Given the description of an element on the screen output the (x, y) to click on. 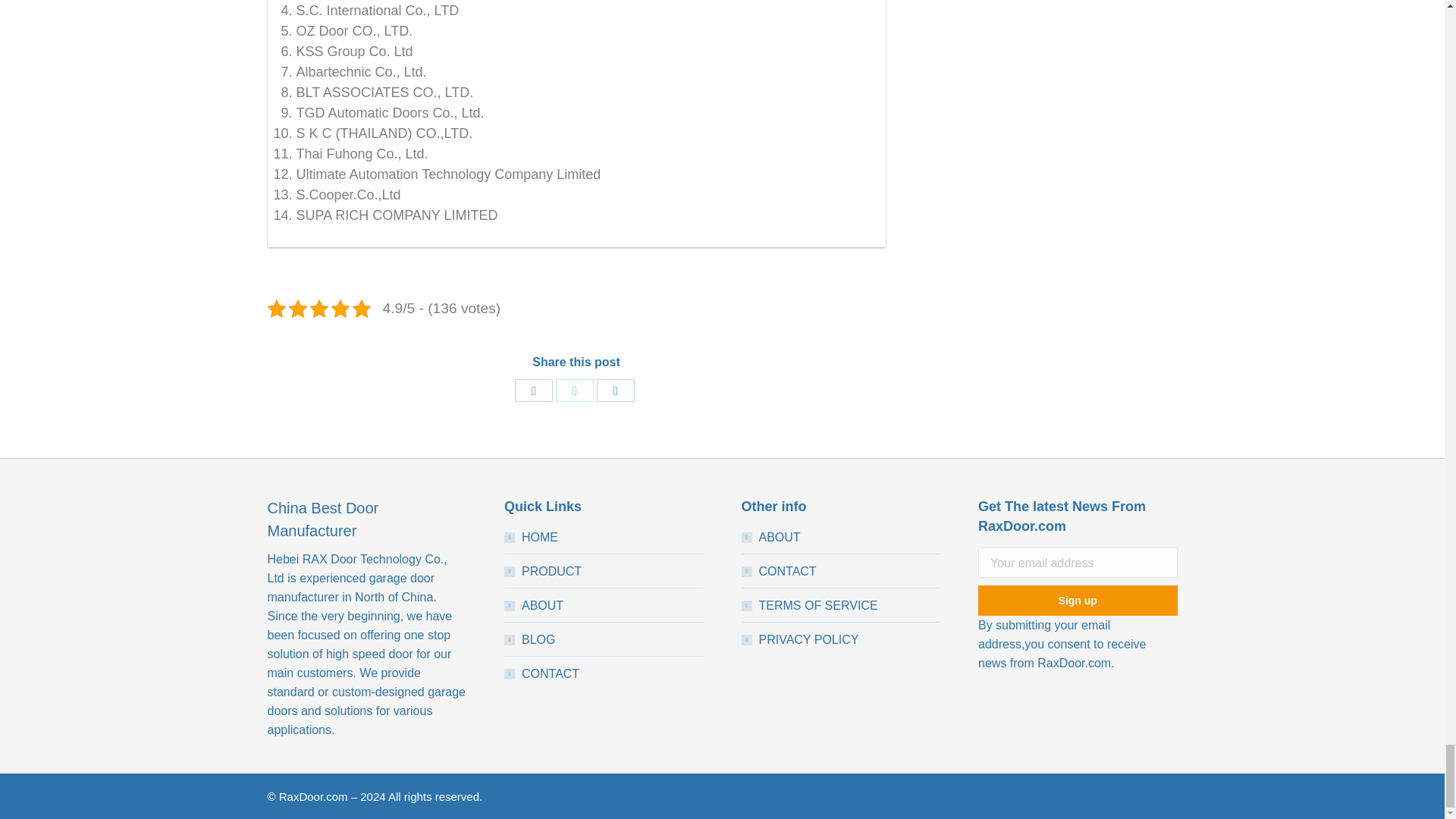
LinkedIn (615, 390)
Sign up (1077, 600)
Facebook (534, 390)
Twitter (575, 390)
